Given the description of an element on the screen output the (x, y) to click on. 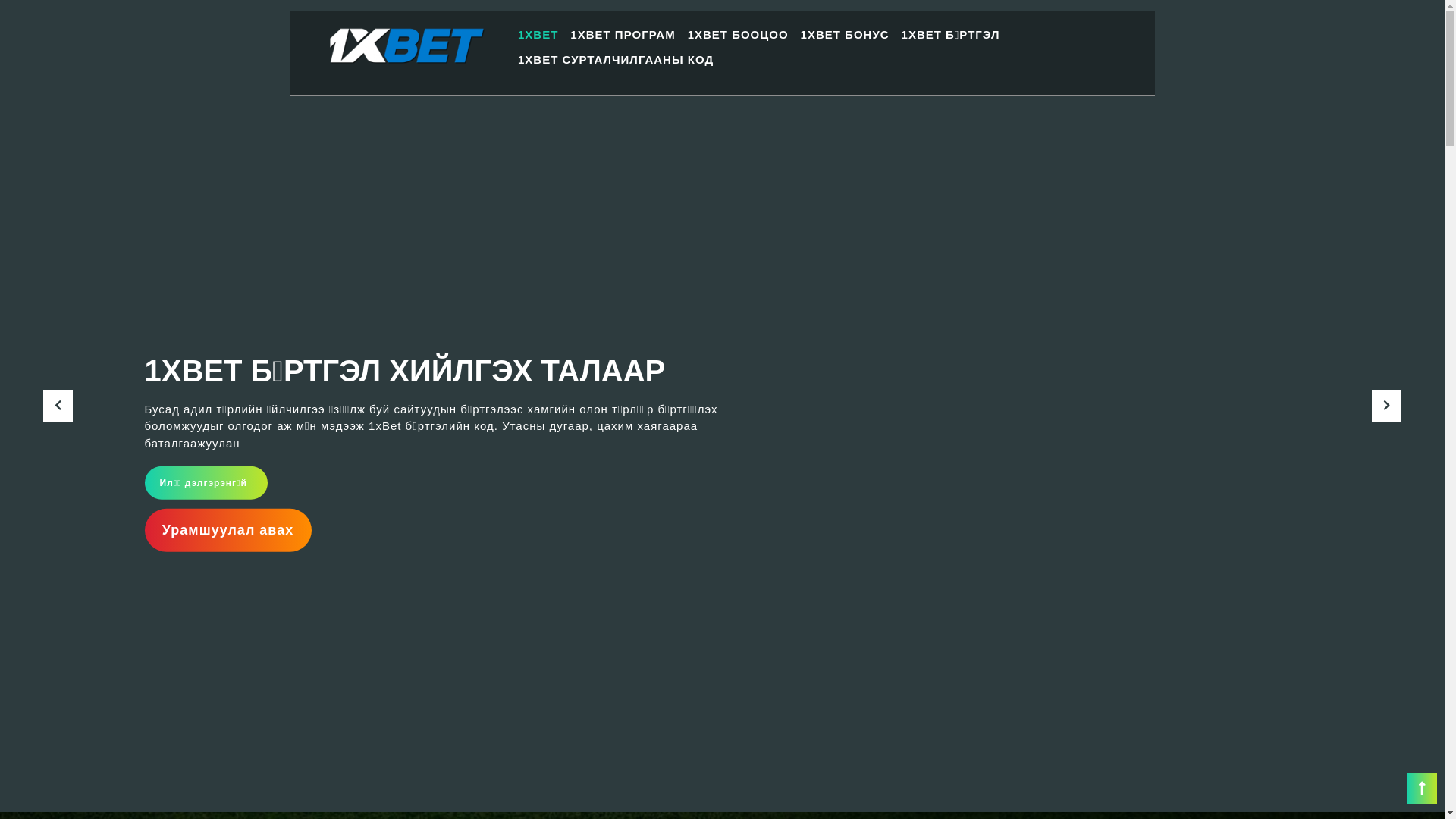
1XBET Element type: text (537, 34)
Previous Element type: text (57, 361)
Next Element type: text (1386, 361)
